Given the description of an element on the screen output the (x, y) to click on. 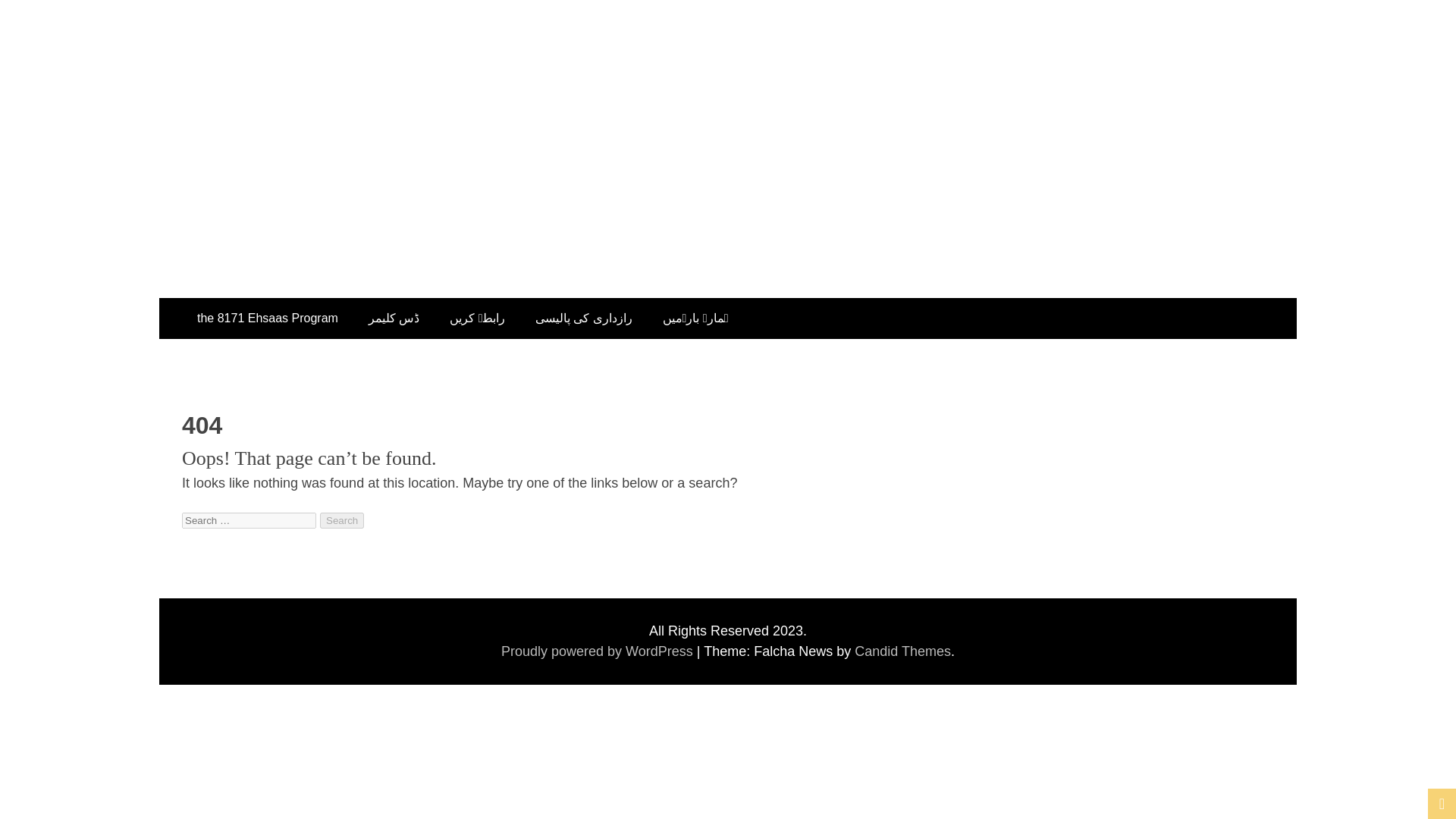
Search (342, 520)
Search (342, 520)
Proudly powered by WordPress (598, 651)
the 8171 Ehsaas Program (267, 318)
Search (342, 520)
Candid Themes (902, 651)
